Given the description of an element on the screen output the (x, y) to click on. 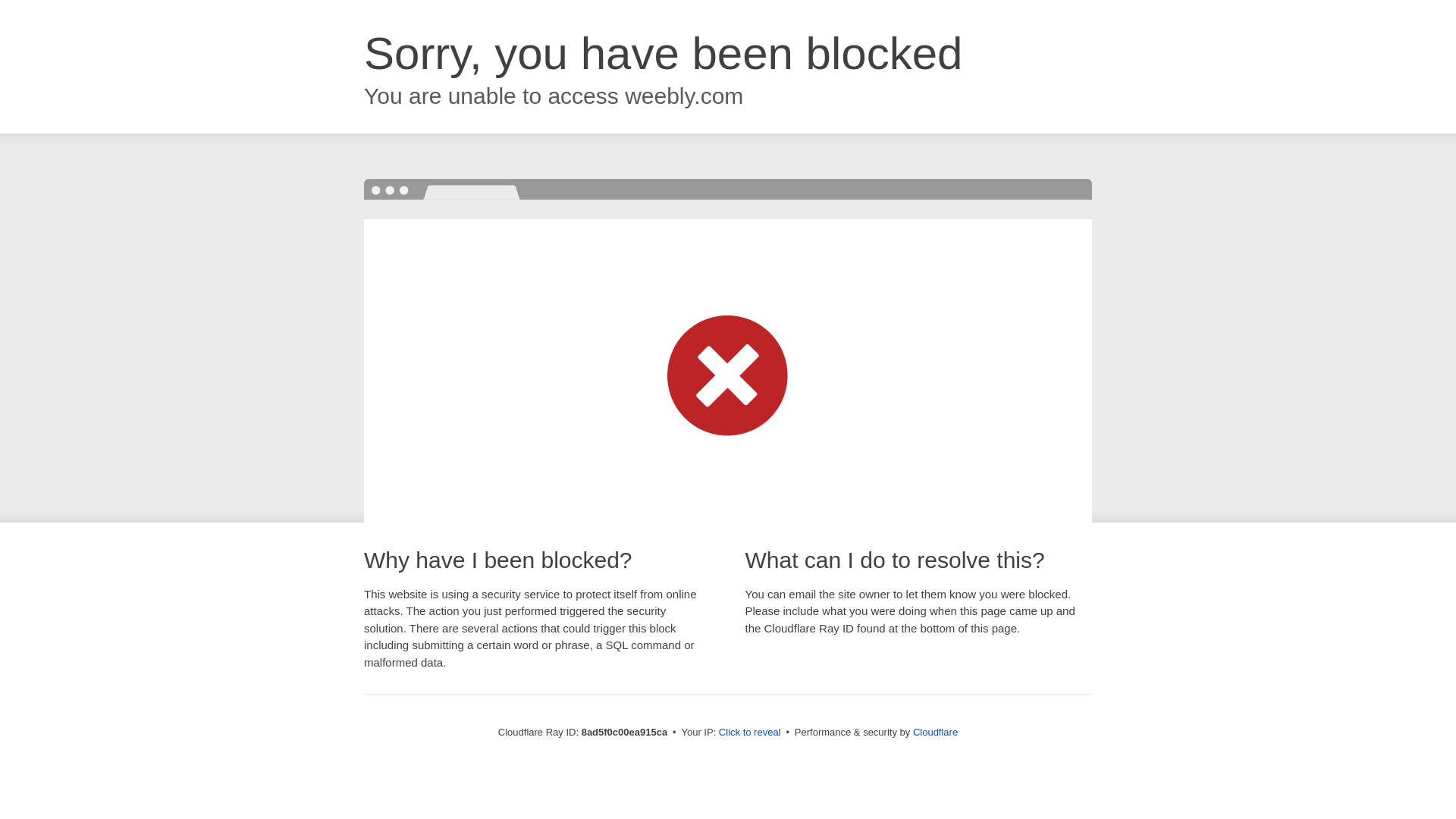
Cloudflare (935, 731)
Click to reveal (749, 732)
